Given the description of an element on the screen output the (x, y) to click on. 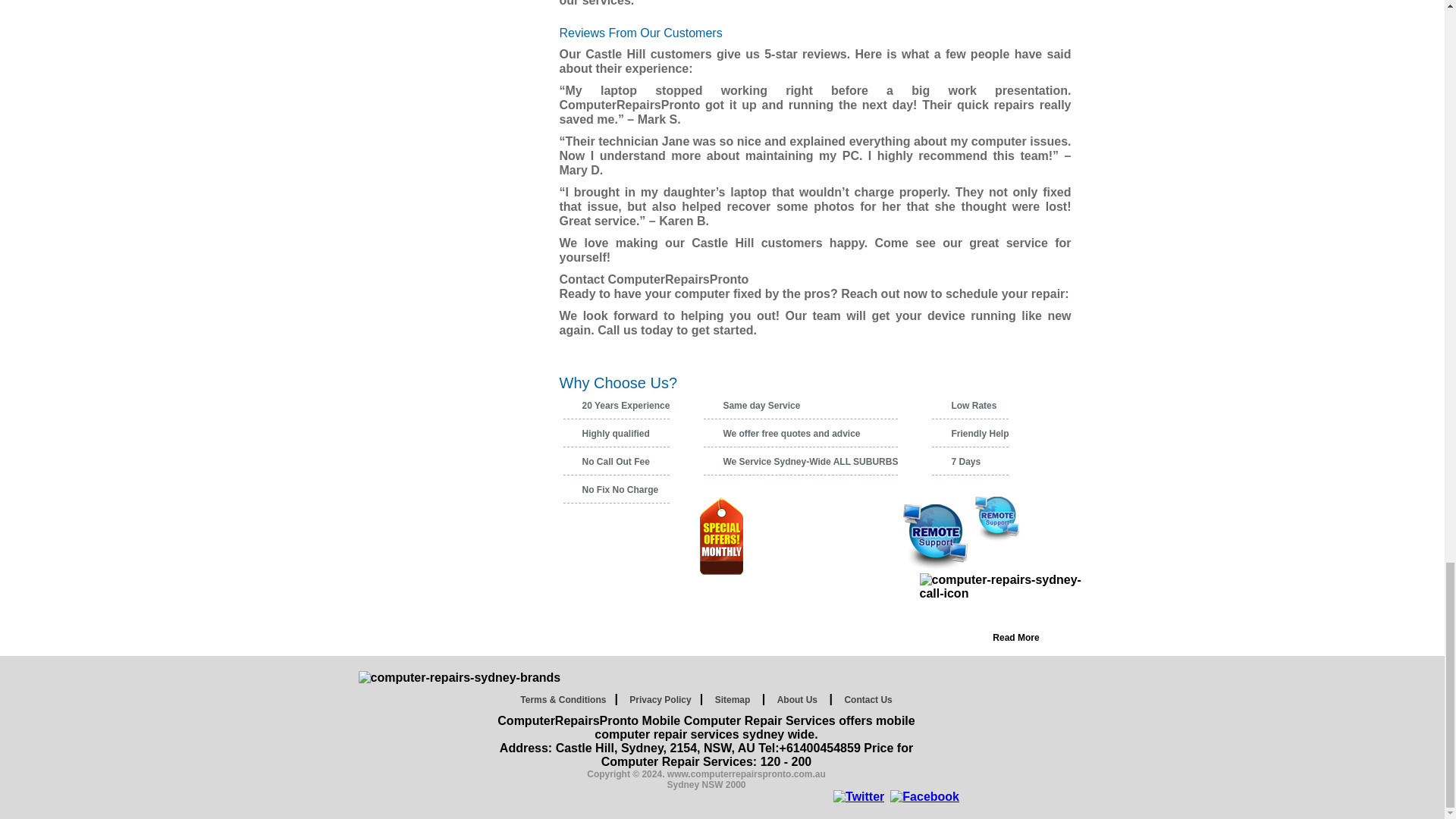
Privacy Policy (659, 699)
Sitemap (732, 699)
Twitter (857, 796)
Contact Us (867, 699)
Facebook (924, 796)
About Us (796, 699)
CONTINUE (1040, 366)
Read More (1015, 638)
